Given the description of an element on the screen output the (x, y) to click on. 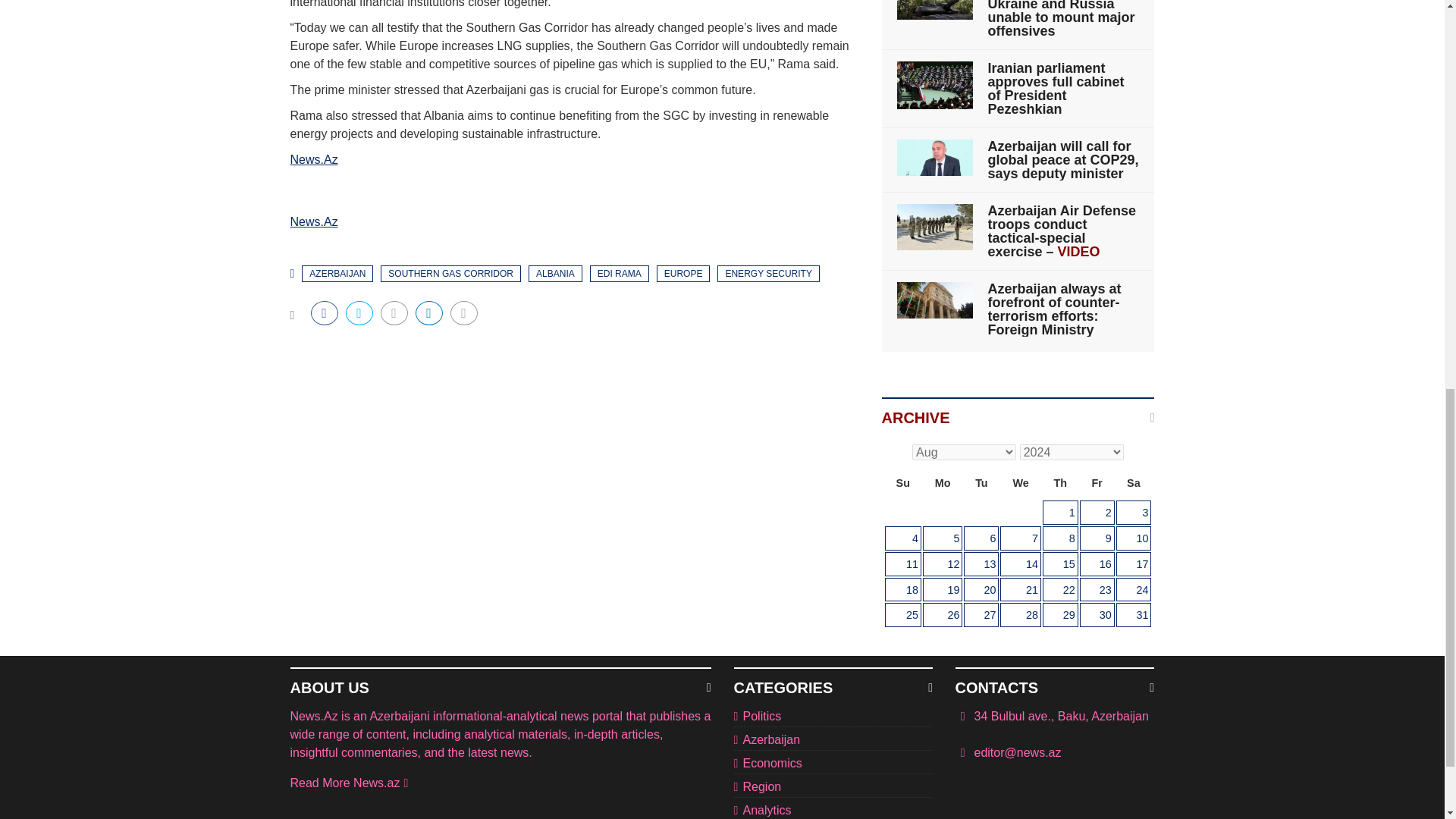
EUROPE (683, 273)
Share news on Facebook (324, 313)
News.Az (313, 159)
ALBANIA (555, 273)
News.Az (313, 221)
ENERGY SECURITY (767, 273)
SOUTHERN GAS CORRIDOR (450, 273)
AZERBAIJAN (336, 273)
EDI RAMA (619, 273)
Share news on Twitter (359, 313)
